Given the description of an element on the screen output the (x, y) to click on. 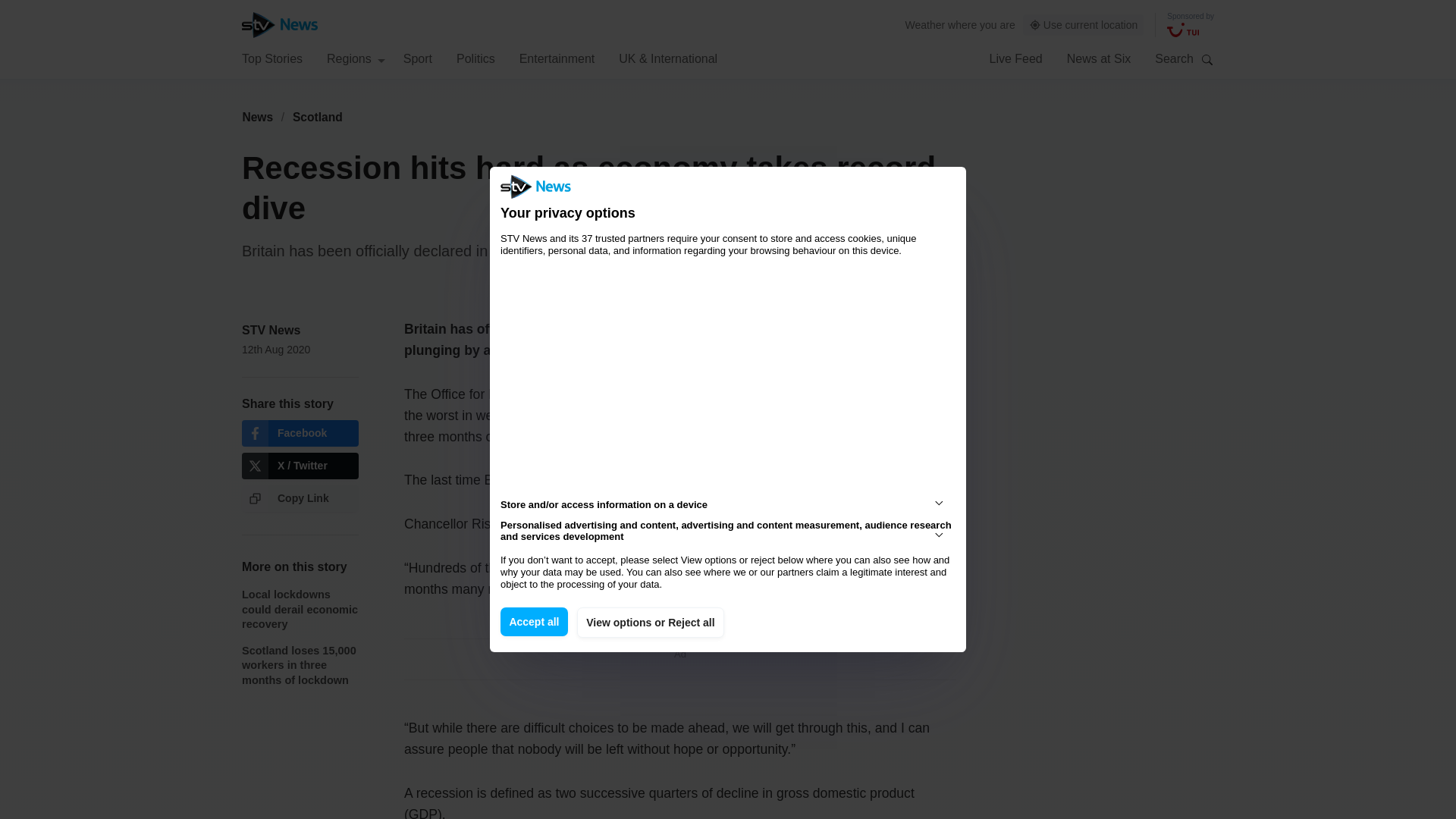
Live Feed (1015, 57)
Use current location (1083, 25)
Weather (924, 24)
Regions (355, 57)
Scotland (317, 116)
Facebook (299, 433)
Top Stories (271, 57)
Entertainment (557, 57)
Search (1206, 59)
